Given the description of an element on the screen output the (x, y) to click on. 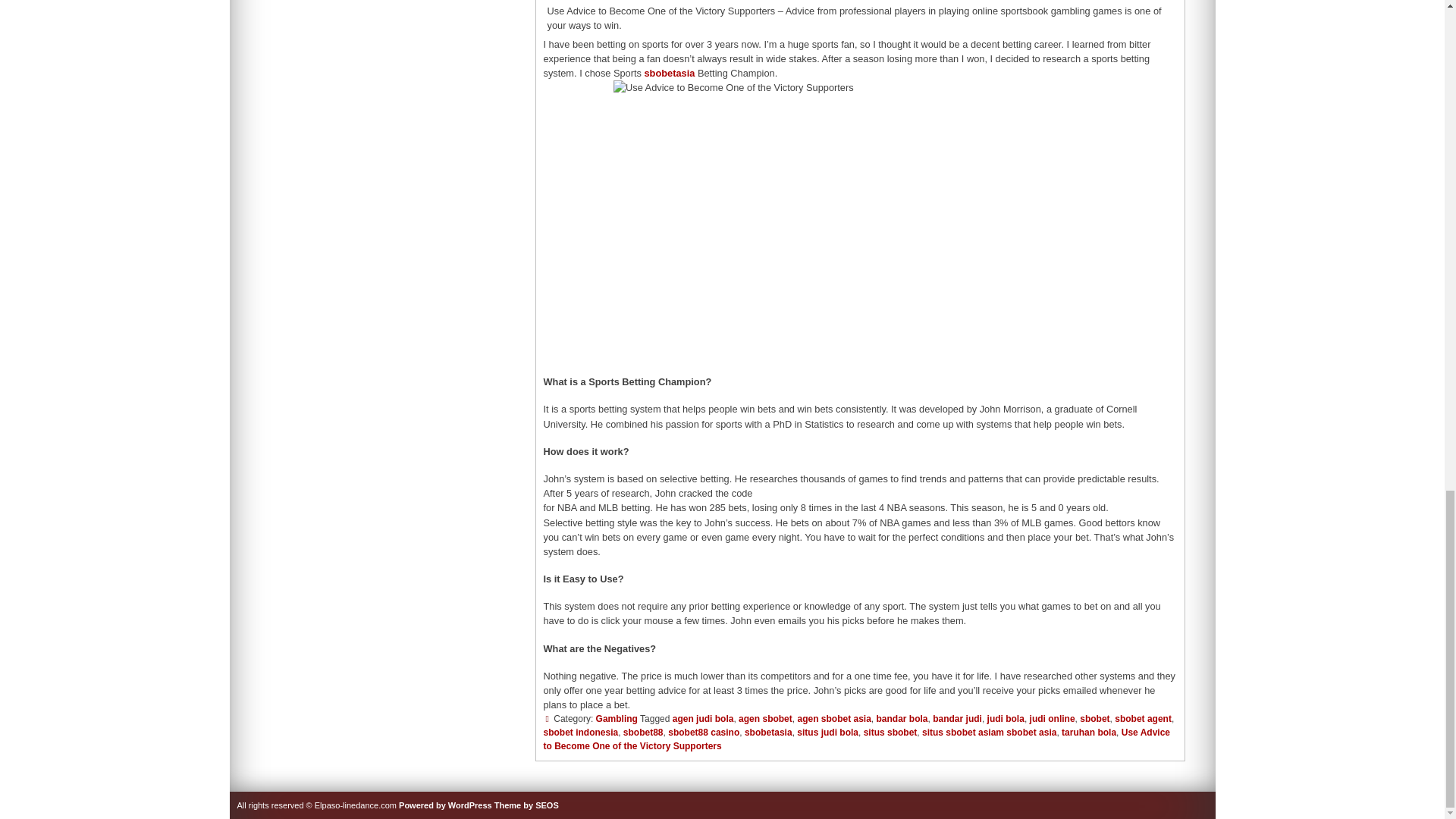
agen sbobet (765, 718)
agen judi bola (702, 718)
judi bola (1006, 718)
sbobetasia (670, 72)
bandar bola (902, 718)
bandar judi (957, 718)
Gambling (616, 718)
agen sbobet asia (833, 718)
Seos free wordpress themes (527, 804)
